Given the description of an element on the screen output the (x, y) to click on. 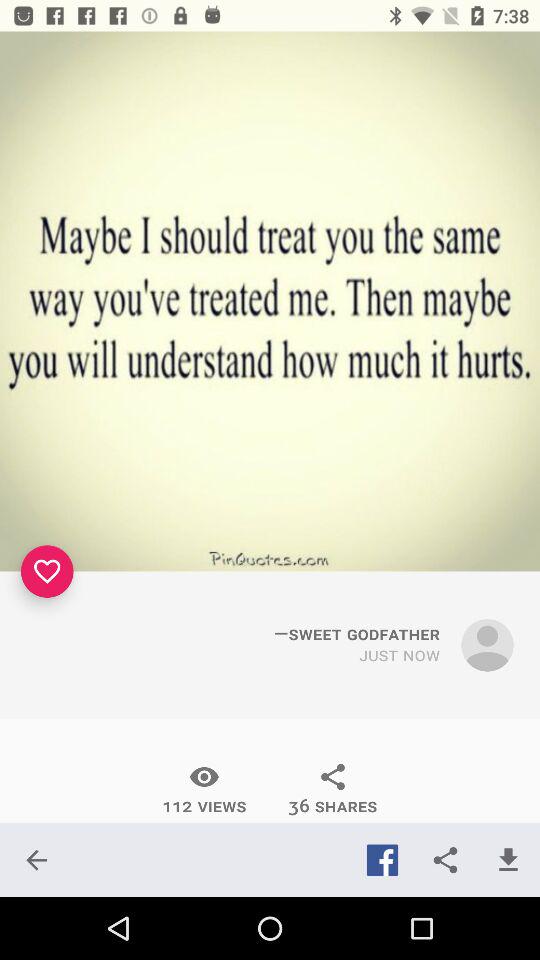
press the item to the left of 36 shares item (204, 789)
